Given the description of an element on the screen output the (x, y) to click on. 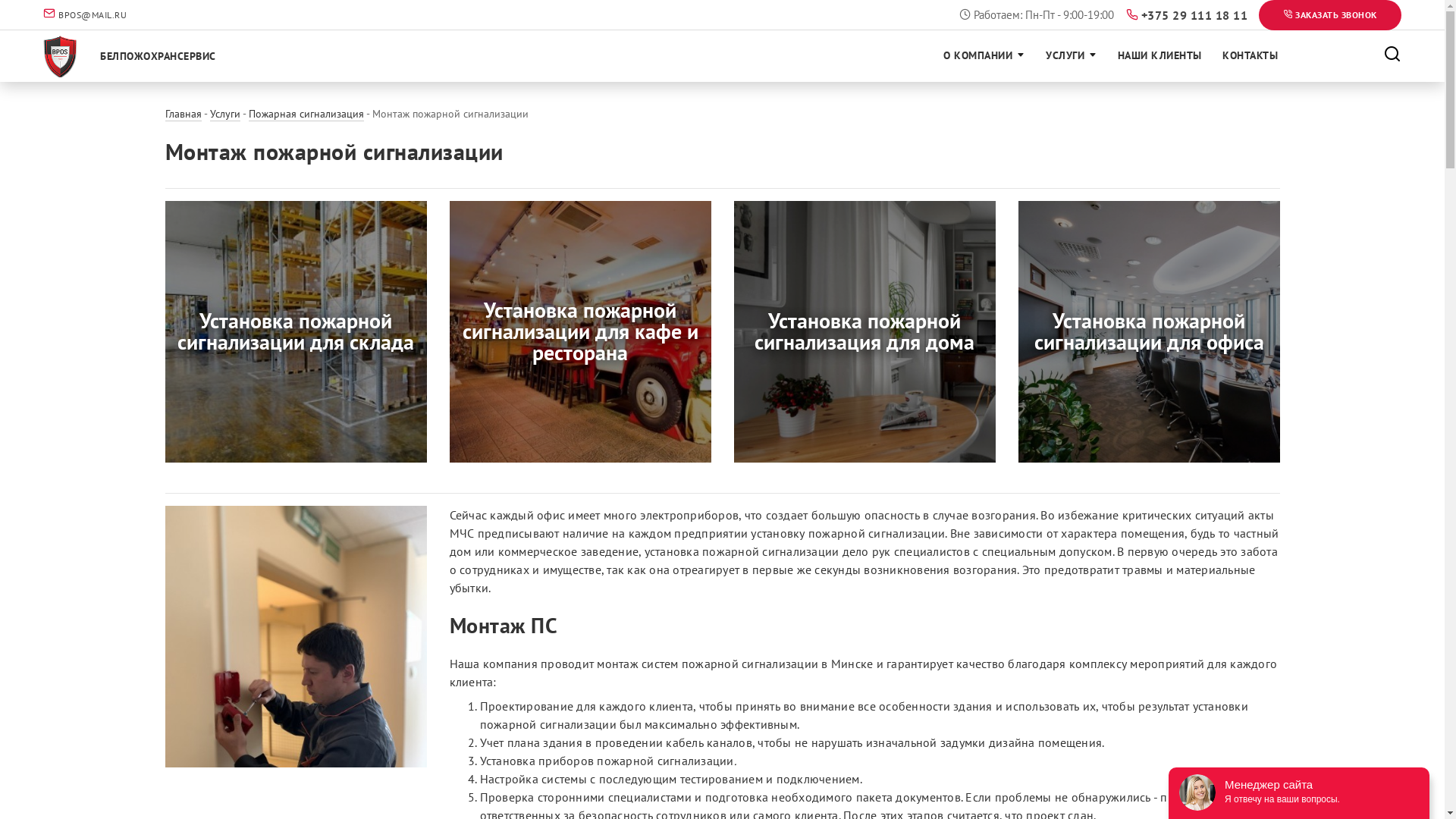
BPOS@MAIL.RU Element type: text (90, 15)
+375 29 111 18 11 Element type: text (1192, 15)
